Given the description of an element on the screen output the (x, y) to click on. 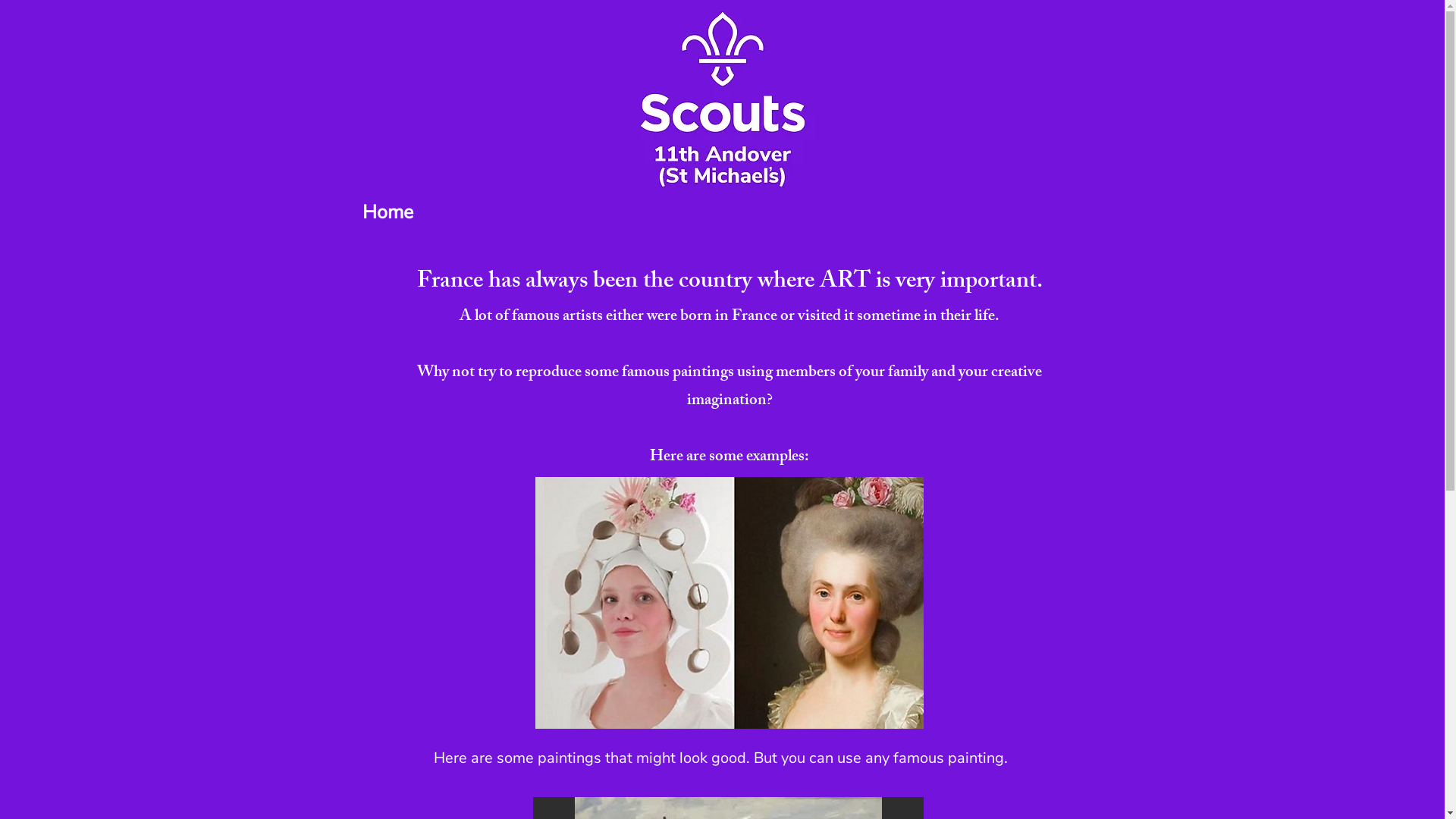
Home Element type: text (387, 212)
